Given the description of an element on the screen output the (x, y) to click on. 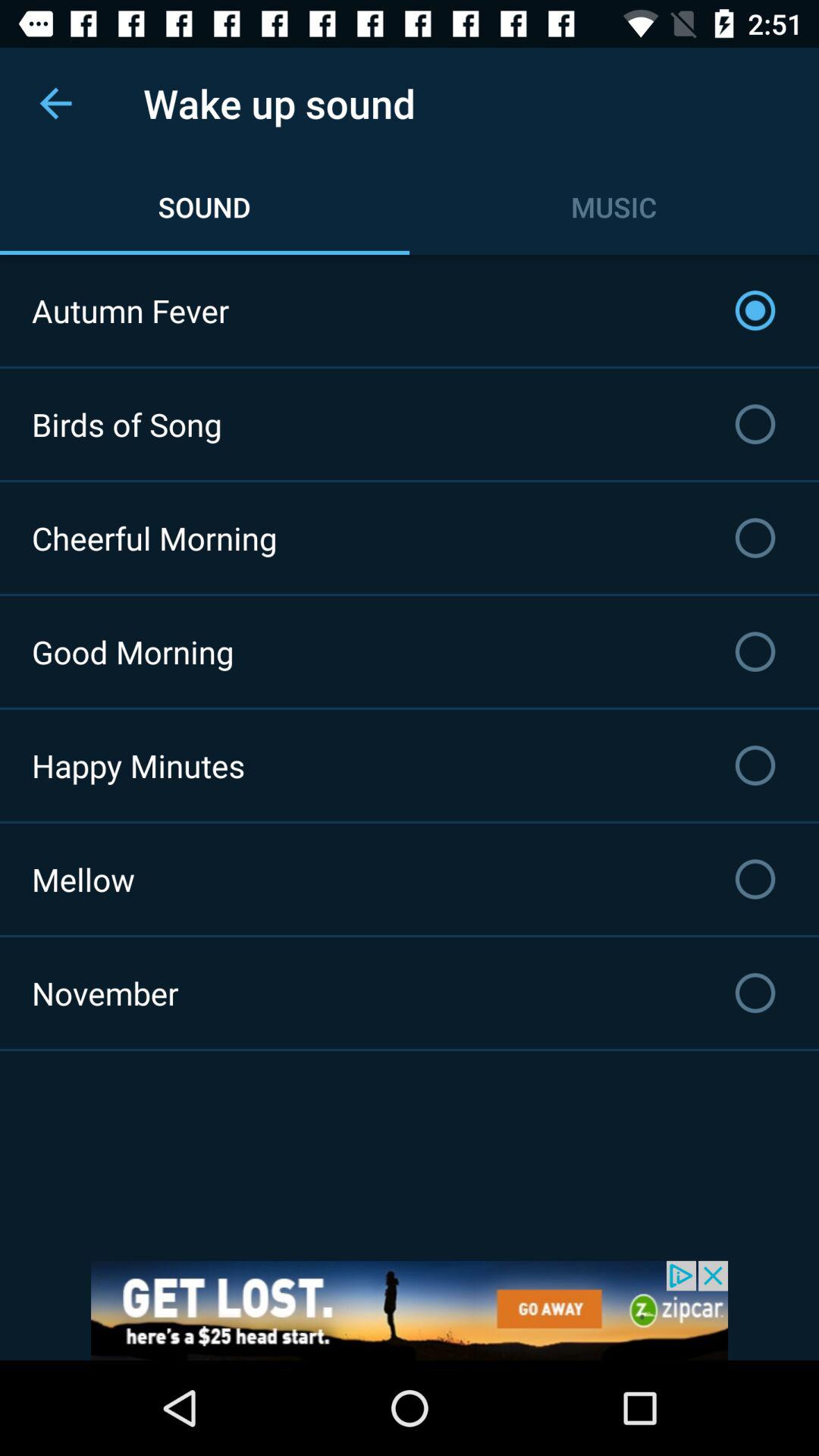
advertisement get lost (409, 1310)
